Given the description of an element on the screen output the (x, y) to click on. 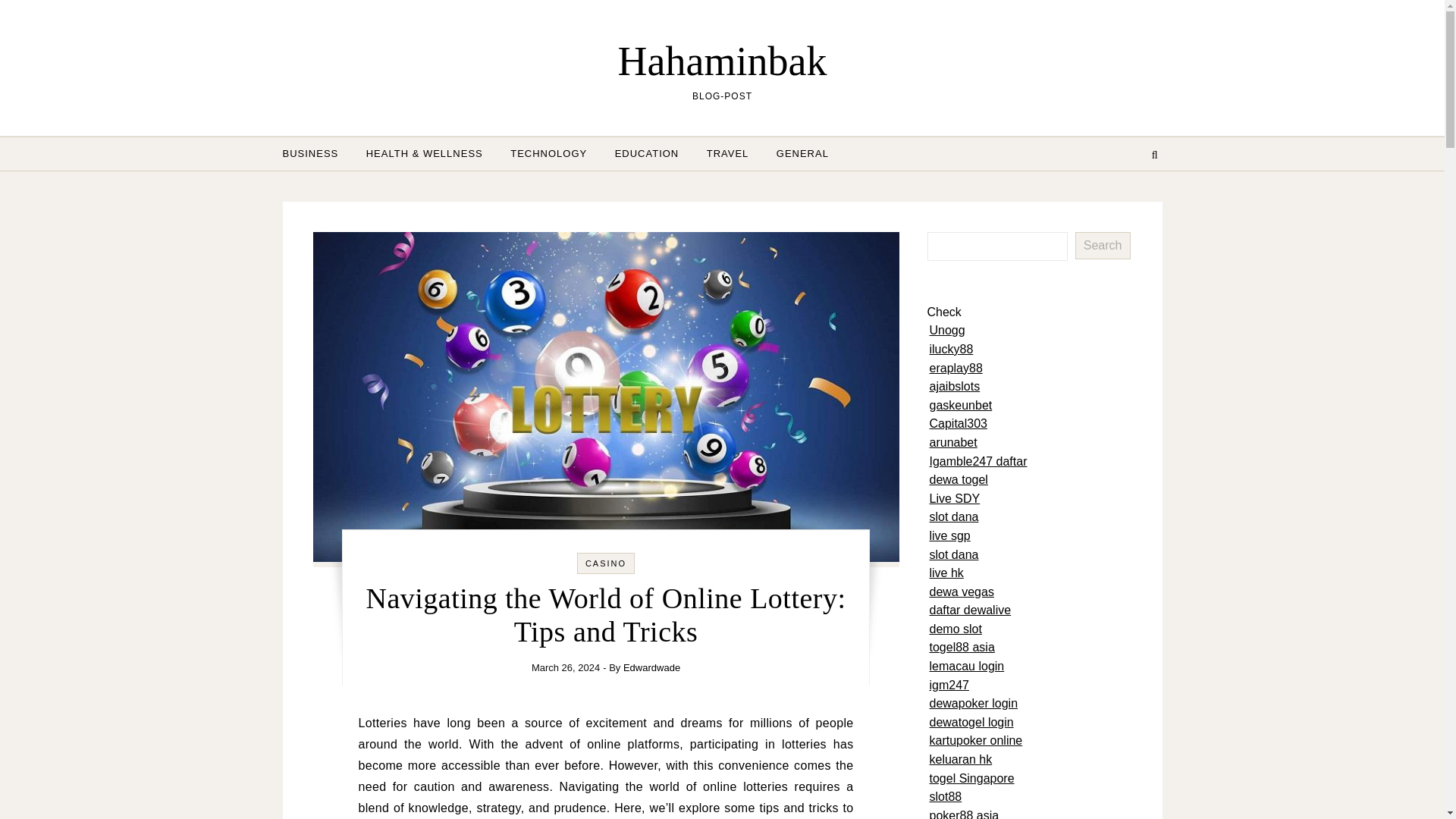
Unogg (947, 329)
CASINO (605, 563)
TRAVEL (727, 153)
TECHNOLOGY (547, 153)
Edwardwade (651, 667)
BUSINESS (316, 153)
eraplay88 (956, 367)
Hahaminbak (721, 61)
gaskeunbet (961, 404)
ilucky88 (952, 349)
